Given the description of an element on the screen output the (x, y) to click on. 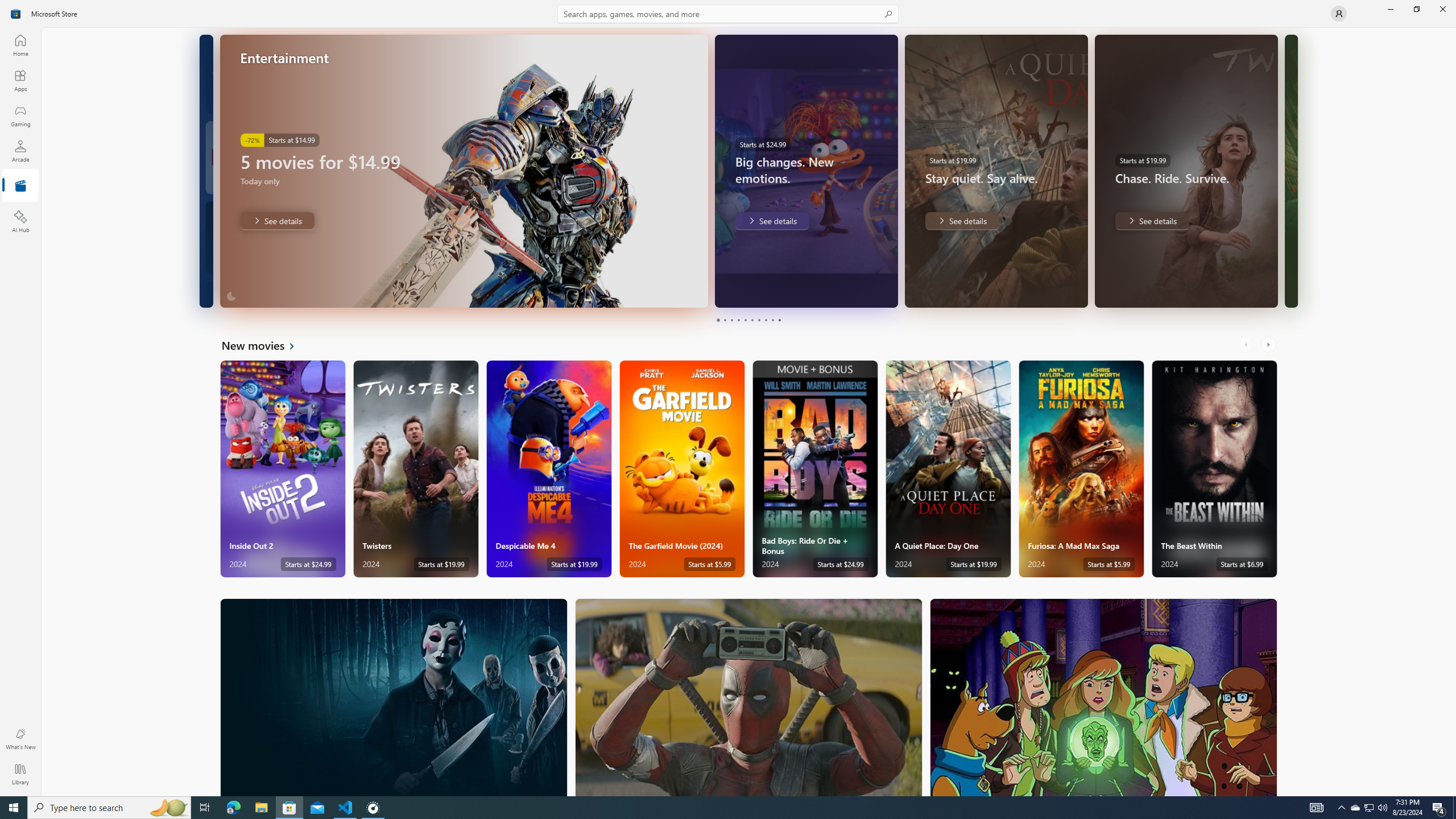
Home (20, 45)
Page 3 (731, 319)
Pause Trailer (858, 291)
